Given the description of an element on the screen output the (x, y) to click on. 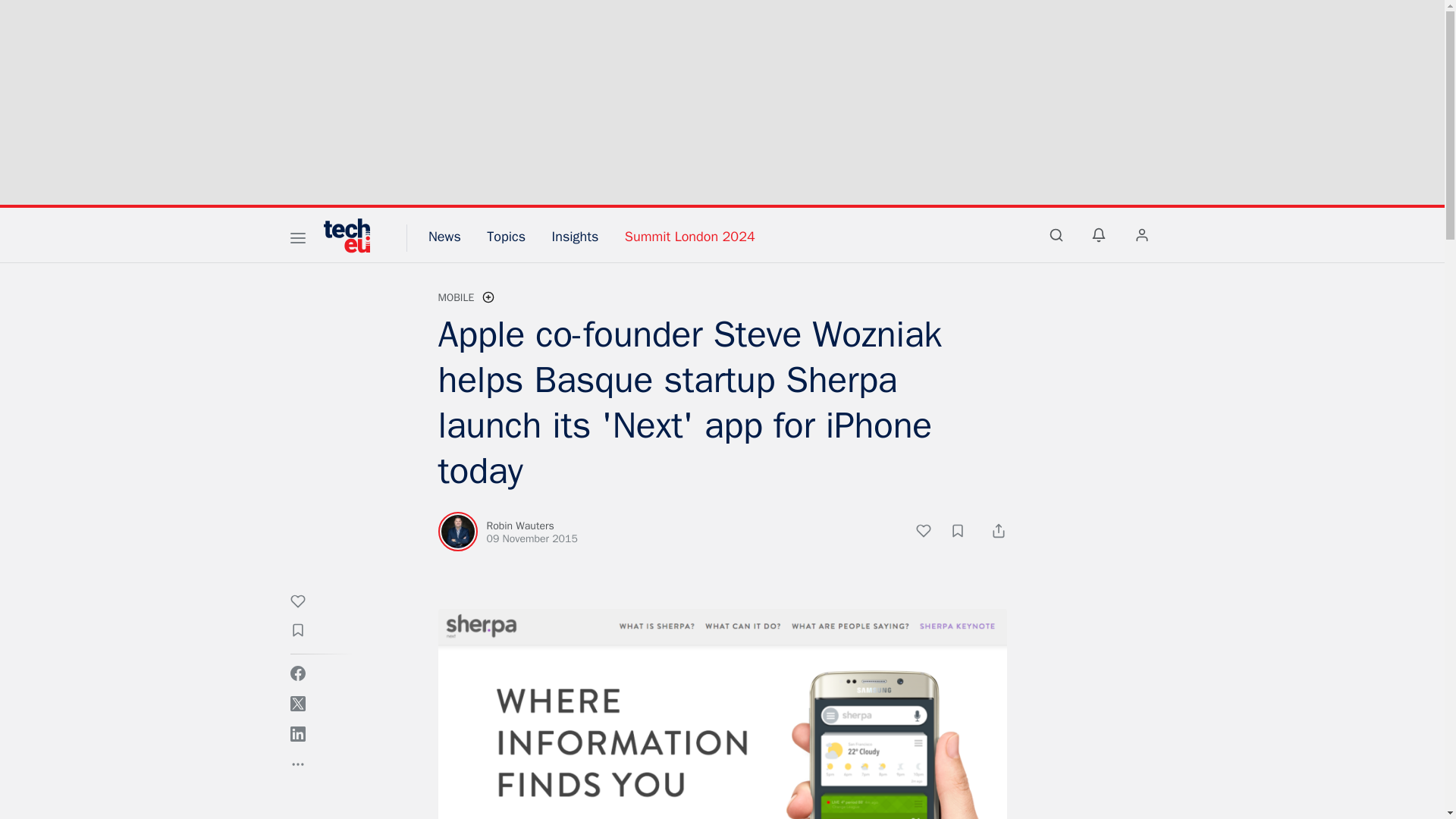
Like (930, 532)
Topics (505, 236)
Like (304, 603)
Share on Linkedin (296, 734)
Add to Collection (964, 532)
Insights (574, 236)
News (444, 236)
Share on Facebook (296, 672)
Mobile (456, 297)
Share on Twitter (296, 703)
Add to collection (304, 632)
Summit London 2024 (689, 236)
